Given the description of an element on the screen output the (x, y) to click on. 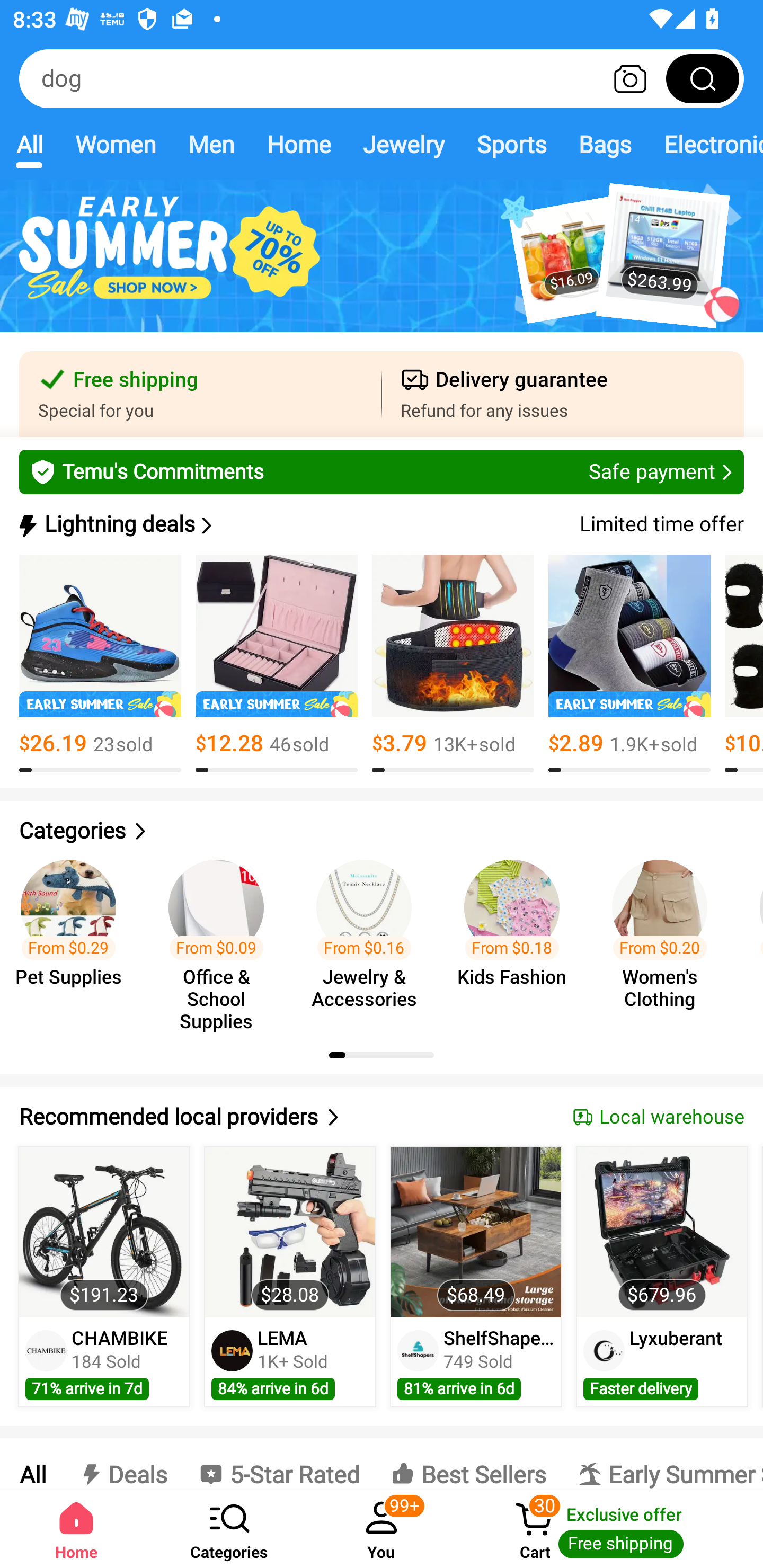
dog (381, 78)
All (29, 144)
Women (115, 144)
Men (211, 144)
Home (298, 144)
Jewelry (403, 144)
Sports (511, 144)
Bags (605, 144)
Electronics (705, 144)
$16.09 $263.99 (381, 265)
Free shipping Special for you (200, 394)
Delivery guarantee Refund for any issues (562, 394)
Temu's Commitments (381, 471)
Lightning deals Lightning deals Limited time offer (379, 524)
$26.19 23￼sold 8.0 (100, 664)
$12.28 46￼sold 8.0 (276, 664)
$3.79 13K+￼sold 8.0 (453, 664)
$2.89 1.9K+￼sold 8.0 (629, 664)
Categories (381, 830)
From $0.29 Pet Supplies (74, 936)
From $0.09 Office & School Supplies (222, 936)
From $0.16 Jewelry & Accessories (369, 936)
From $0.18 Kids Fashion (517, 936)
From $0.20 Women's Clothing (665, 936)
$191.23 CHAMBIKE 184 Sold 71% arrive in 7d (103, 1276)
$28.08 LEMA 1K+ Sold 84% arrive in 6d (289, 1276)
$68.49 ShelfShapers 749 Sold 81% arrive in 6d (475, 1276)
$679.96 Lyxuberant Faster delivery (661, 1276)
$191.23 (104, 1232)
$28.08 (290, 1232)
$68.49 (475, 1232)
$679.96 (661, 1232)
All (32, 1463)
Deals Deals Deals (122, 1463)
5-Star Rated 5-Star Rated 5-Star Rated (279, 1463)
Best Sellers Best Sellers Best Sellers (468, 1463)
Home (76, 1528)
Categories (228, 1528)
You ‎99+‎ You (381, 1528)
Cart 30 Cart Exclusive offer (610, 1528)
